Given the description of an element on the screen output the (x, y) to click on. 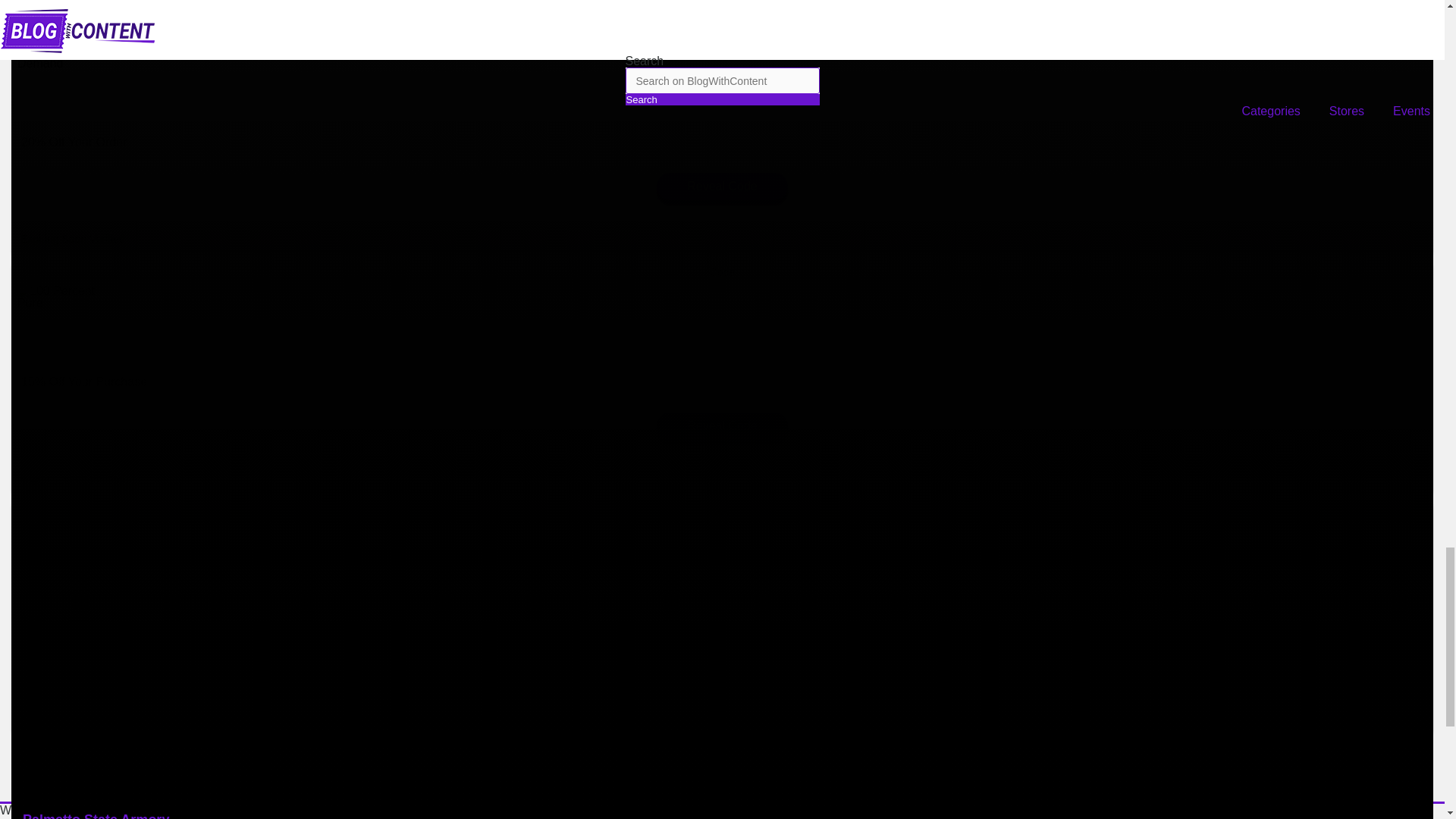
Reveal Code (721, 665)
Reveal Code (721, 185)
Reveal Code (721, 425)
